Given the description of an element on the screen output the (x, y) to click on. 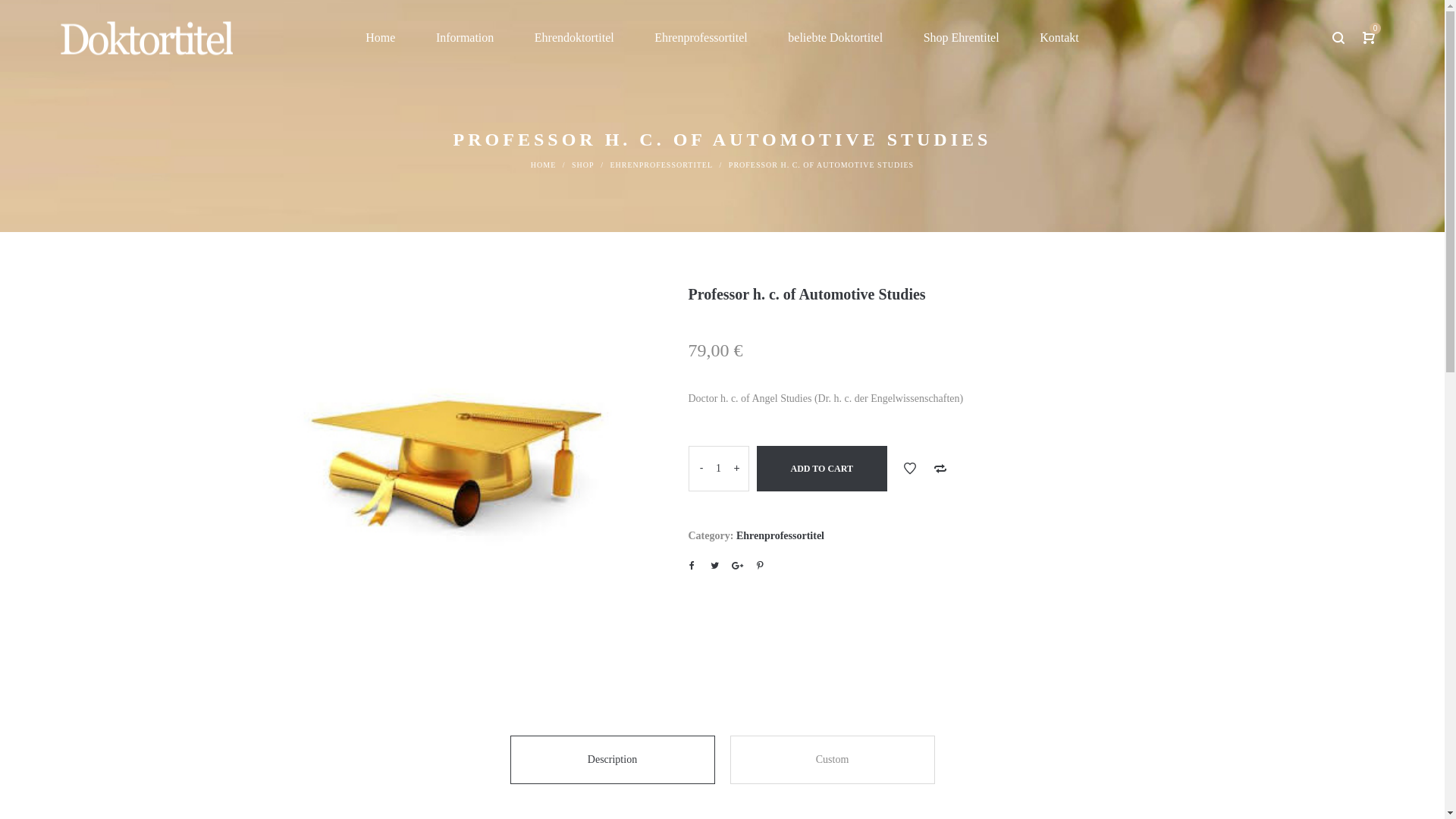
0 Element type: text (1368, 37)
EHRENPROFESSORTITEL Element type: text (660, 164)
Ehrendoktortitel Element type: text (574, 37)
Description Element type: text (611, 759)
Shop Ehrentitel Element type: text (961, 37)
Custom Element type: text (831, 759)
Ehrenprofessortitel Element type: text (701, 37)
Kontakt Element type: text (1059, 37)
Ehrenprofessortitel Element type: text (780, 535)
HOME Element type: text (542, 164)
Add to Wishlist Element type: text (909, 468)
Qty Element type: hover (718, 468)
ADD TO CART Element type: text (821, 468)
Information Element type: text (464, 37)
Home Element type: text (380, 37)
beliebte Doktortitel Element type: text (835, 37)
SHOP Element type: text (582, 164)
Add to Compare Element type: text (940, 468)
